Given the description of an element on the screen output the (x, y) to click on. 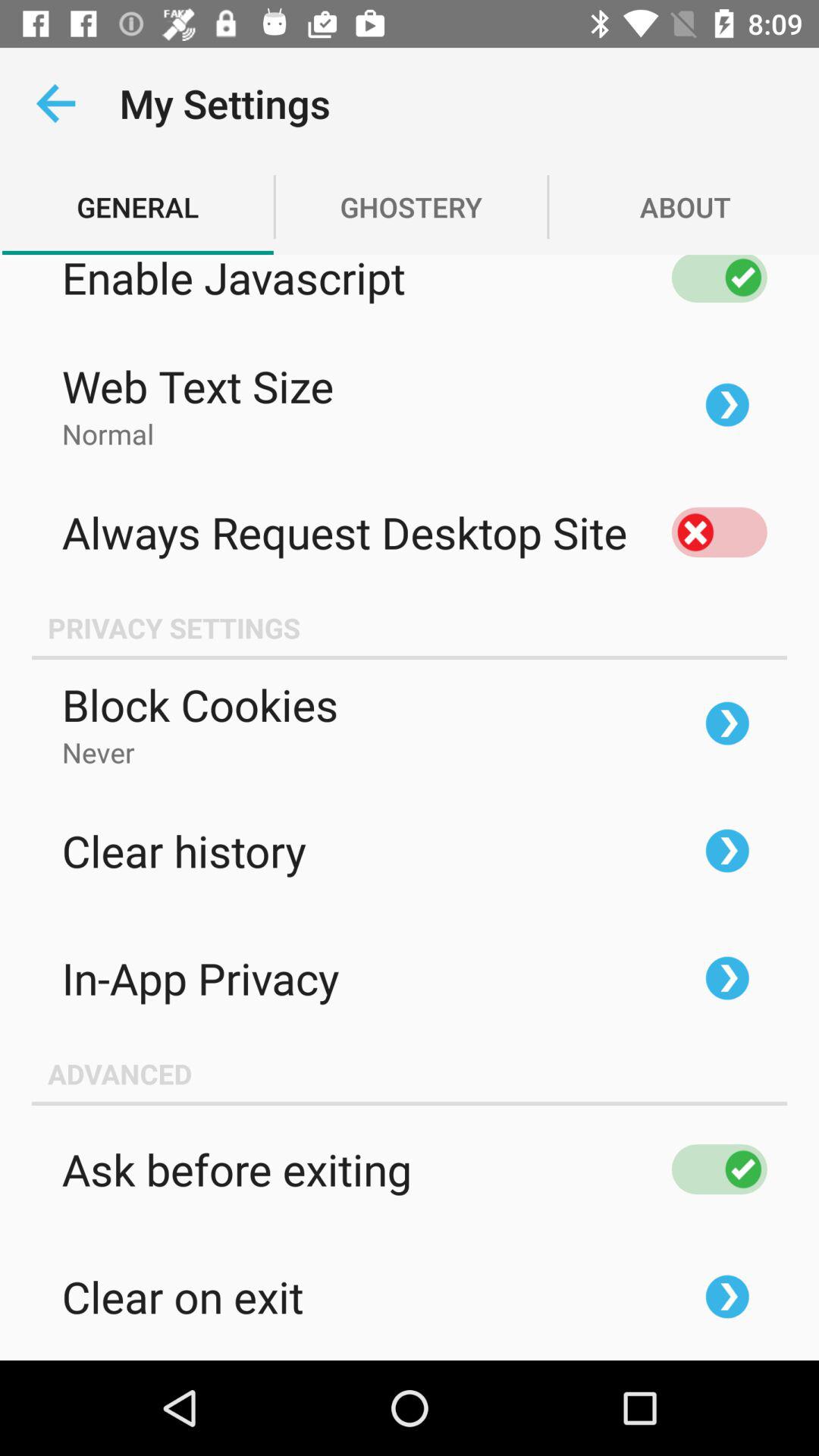
turn on advanced (409, 1073)
